Given the description of an element on the screen output the (x, y) to click on. 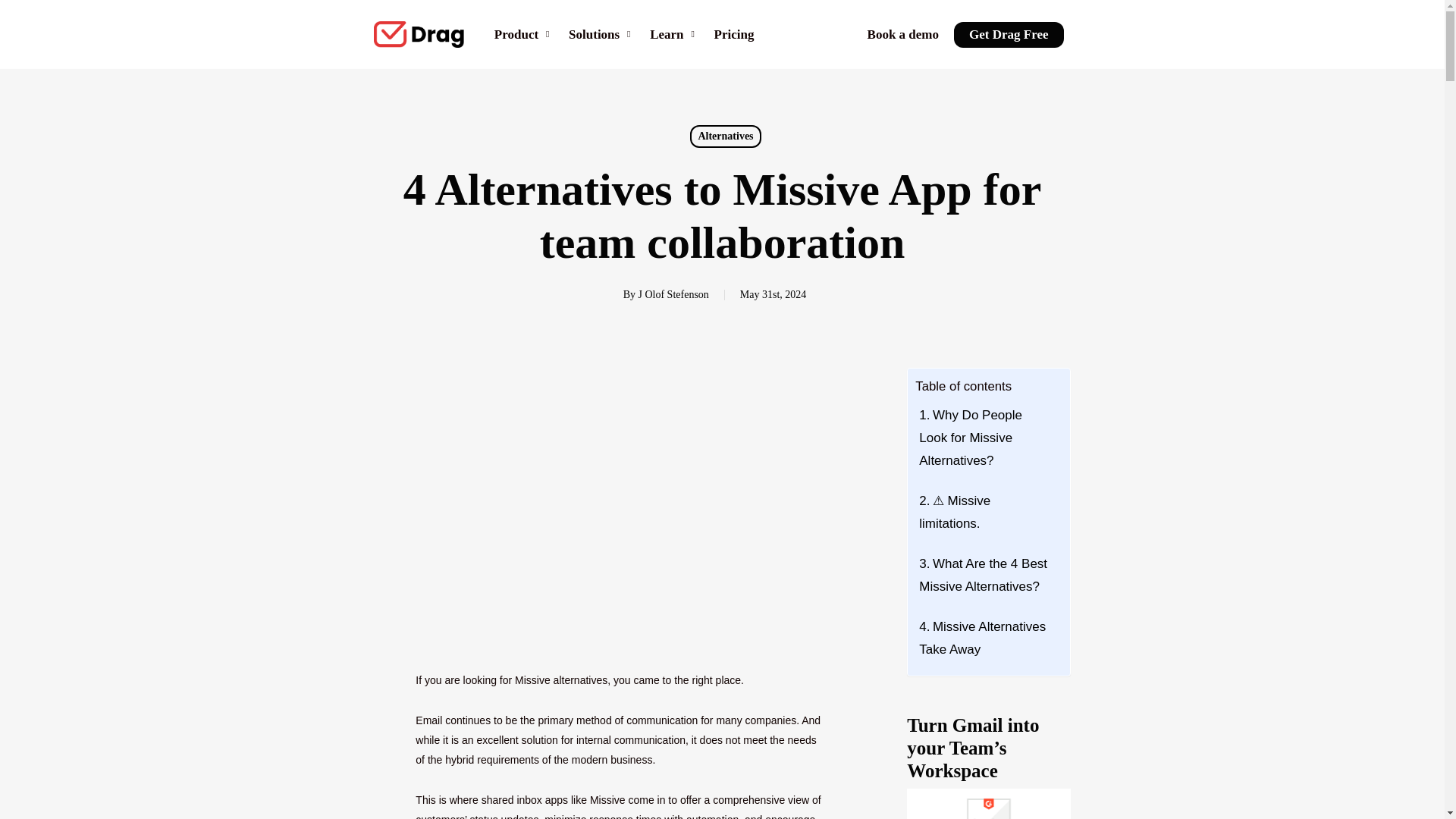
Missive Alternatives Take Away (984, 636)
Solutions (601, 34)
Posts by J Olof Stefenson (674, 294)
Product (523, 34)
Why Do People Look for Missive Alternatives? (984, 435)
What Are the 4 Best Missive Alternatives? (984, 573)
